Given the description of an element on the screen output the (x, y) to click on. 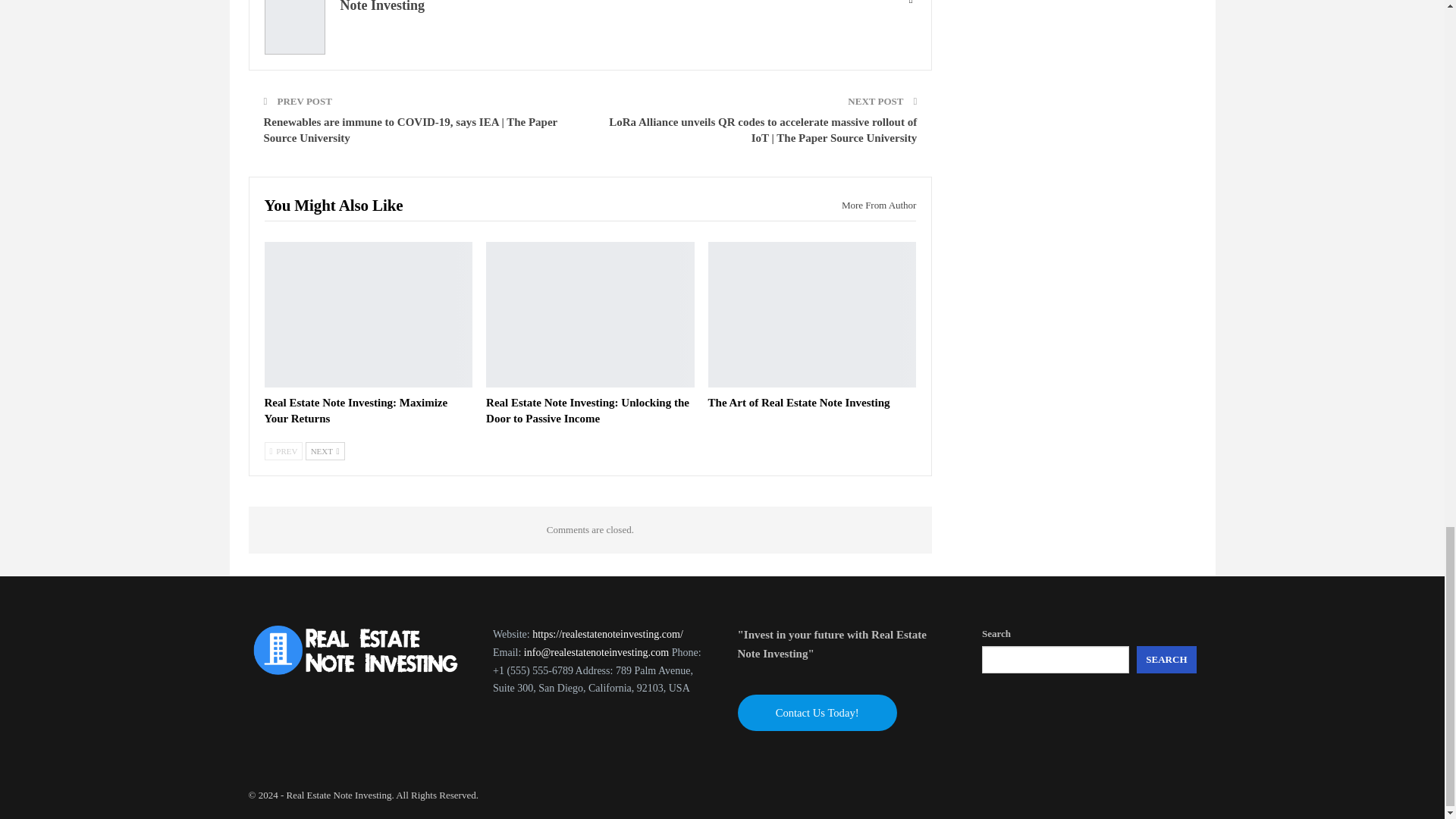
Next (325, 451)
The Art of Real Estate Note Investing (798, 402)
The Art of Real Estate Note Investing (812, 314)
Real Estate Note Investing: Maximize Your Returns (354, 410)
Real Estate Note Investing: Maximize Your Returns (367, 314)
Previous (282, 451)
Note Investing (382, 6)
